Given the description of an element on the screen output the (x, y) to click on. 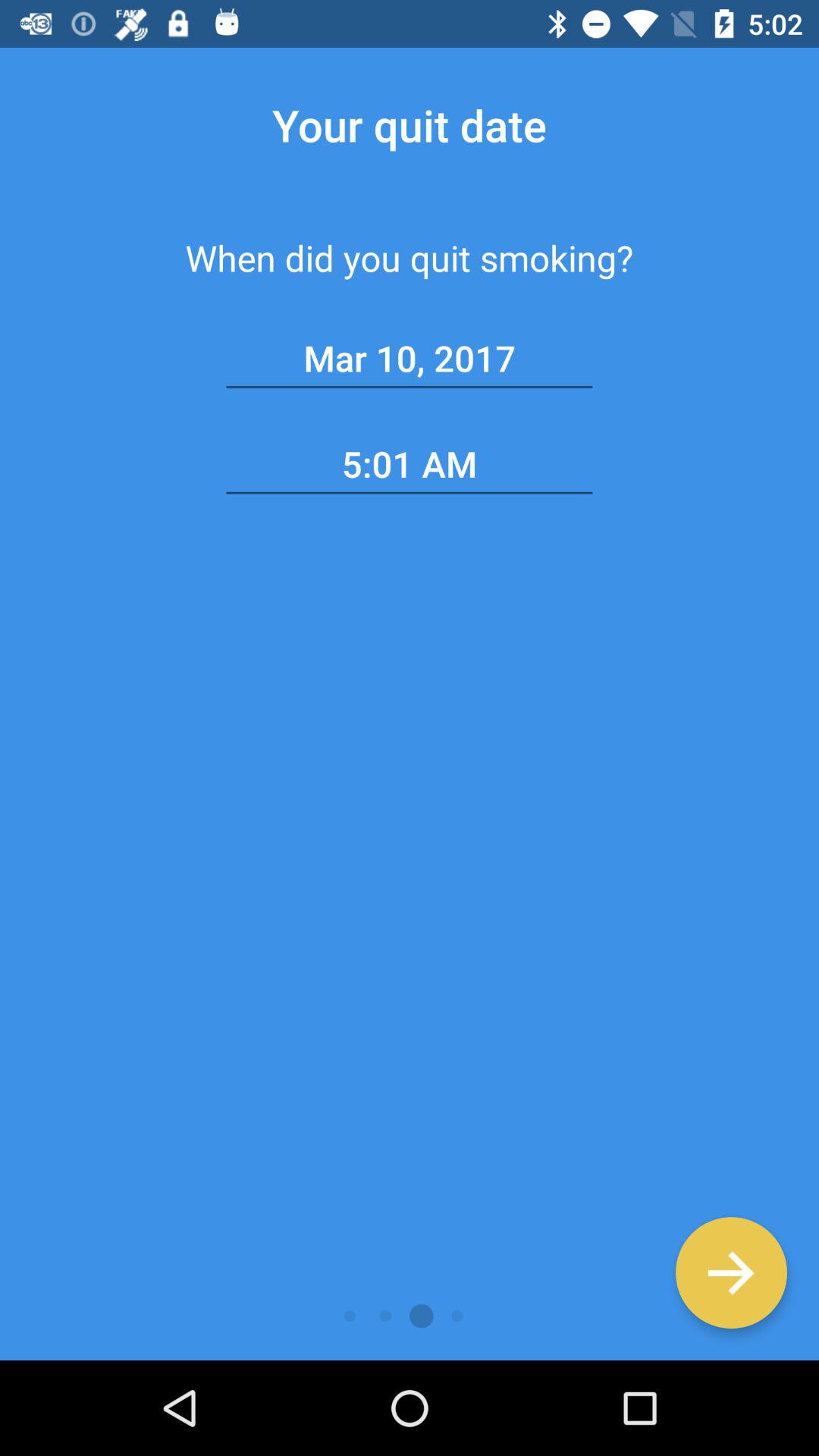
flip until 5:01 am (409, 464)
